Given the description of an element on the screen output the (x, y) to click on. 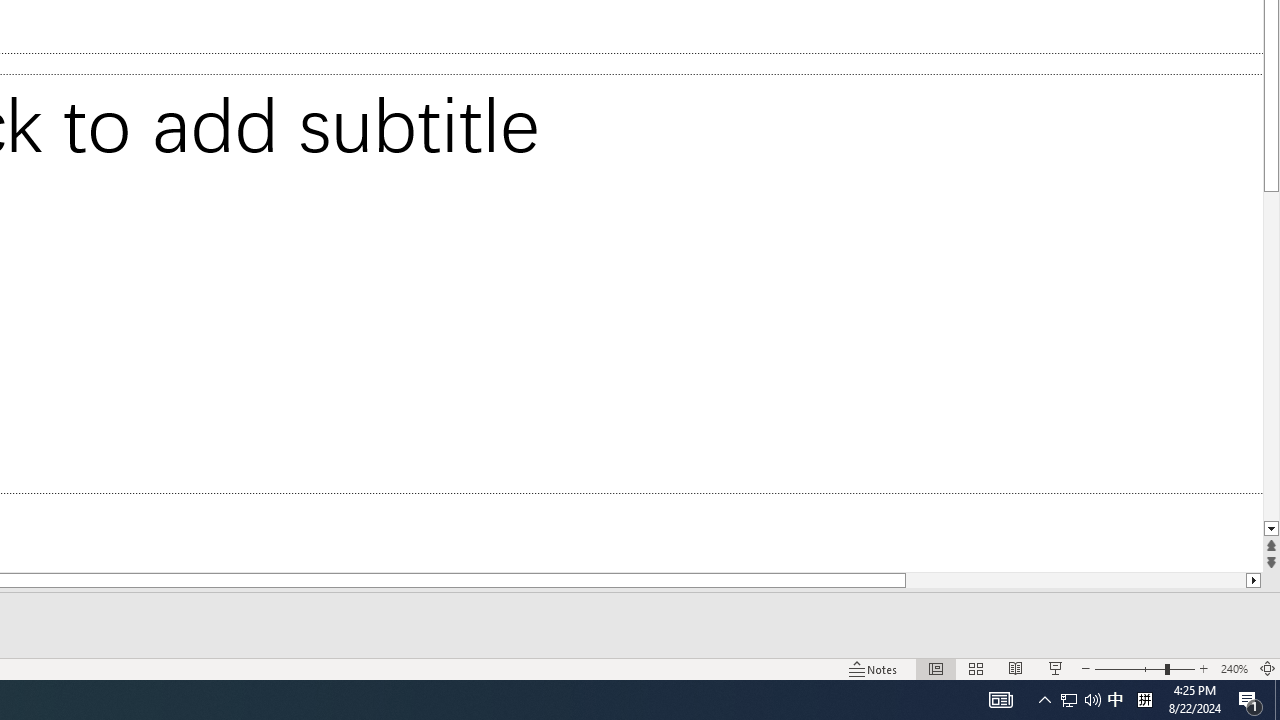
Zoom 240% (1234, 668)
